Given the description of an element on the screen output the (x, y) to click on. 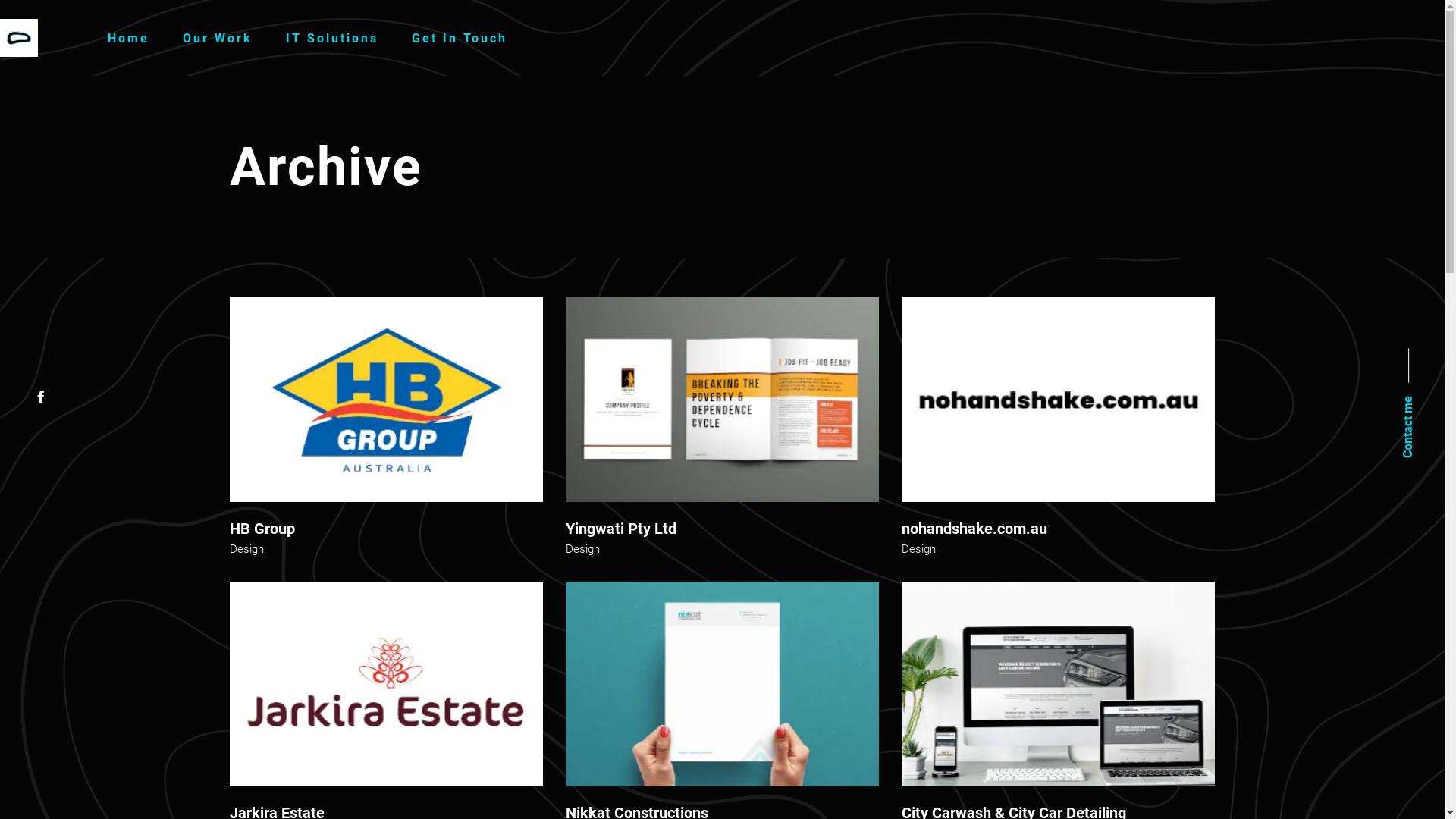
Home Element type: text (128, 37)
nohandshake.com.au Element type: text (974, 528)
Design Element type: text (918, 548)
Design Element type: text (246, 548)
Get In Touch Element type: text (459, 37)
HB Group Element type: text (261, 528)
IT Solutions Element type: text (331, 37)
Our Work Element type: text (217, 37)
Design Element type: text (582, 548)
Yingwati Pty Ltd Element type: text (620, 528)
